Given the description of an element on the screen output the (x, y) to click on. 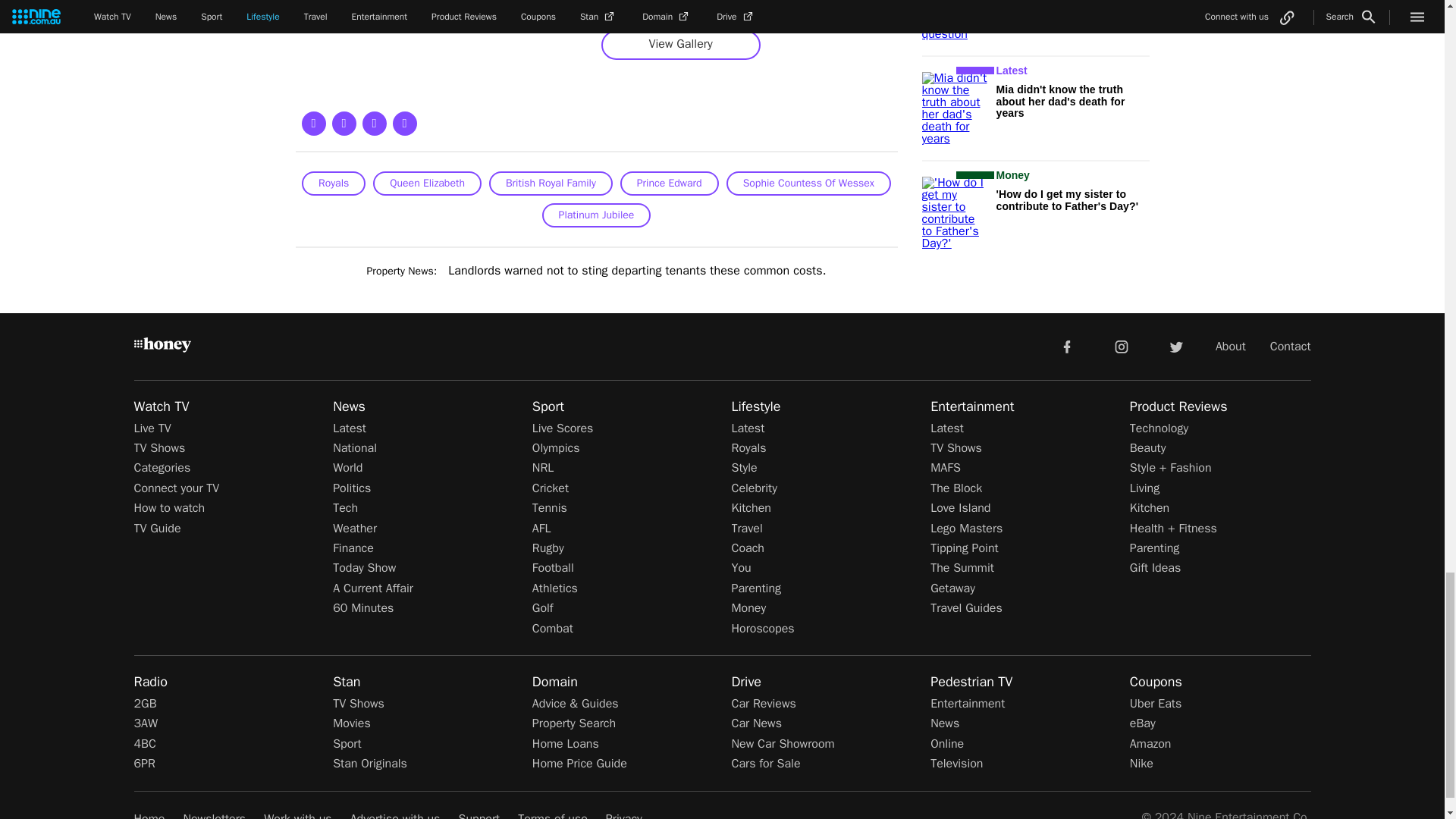
instagram (1121, 345)
twitter (1175, 345)
facebook (1066, 345)
